Given the description of an element on the screen output the (x, y) to click on. 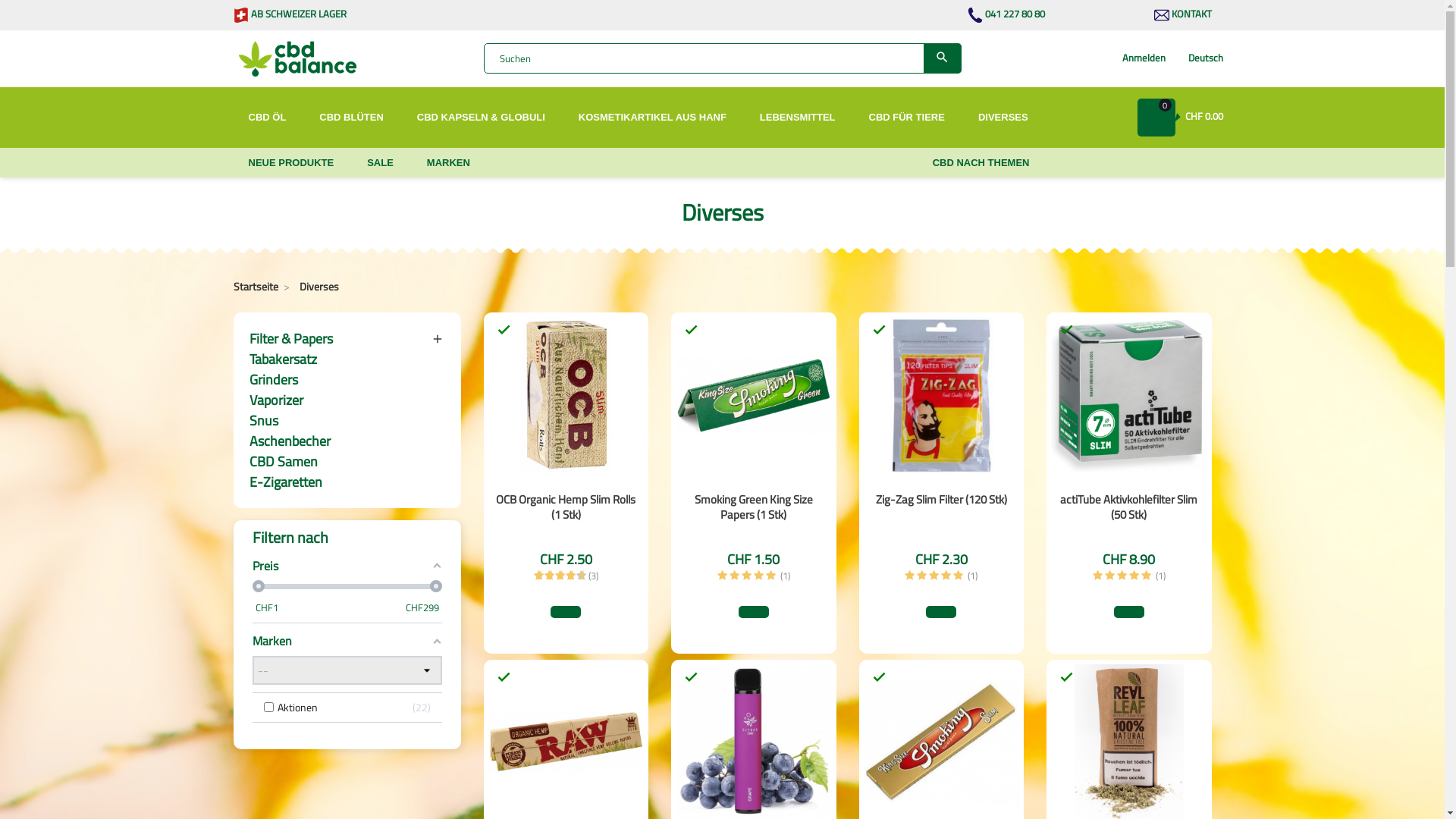
1 Element type: hover (1097, 575)
Grinders Element type: text (346, 379)
NEUE PRODUKTE Element type: text (291, 169)
5 Element type: hover (770, 575)
Filter & Papers Element type: text (346, 338)
Diverses Element type: text (318, 286)
8 Element type: hover (570, 575)
3 Element type: hover (543, 575)
CBD KAPSELN & GLOBULI Element type: text (480, 124)
1 Element type: hover (909, 575)
2 Element type: hover (1109, 575)
3 Element type: hover (746, 575)
MARKEN Element type: text (448, 169)
5 Element type: hover (958, 575)
2 Element type: hover (921, 575)
E-Zigaretten Element type: text (346, 481)
Zig-Zag Slim Filter (120 Stk) Element type: text (941, 499)
DIVERSES Element type: text (1003, 124)
5 Element type: hover (1146, 575)
Smoking Green King Size Papers (1 Stk) Element type: text (753, 506)
9 Element type: hover (575, 575)
CBD NACH THEMEN Element type: text (980, 169)
Snus Element type: text (346, 420)
3 Element type: hover (1121, 575)
4 Element type: hover (758, 575)
4 Element type: hover (945, 575)
SALE Element type: text (379, 169)
Startseite Element type: text (256, 286)
Vaporizer Element type: text (346, 399)
4 Element type: hover (1134, 575)
5 Element type: hover (554, 575)
KONTAKT Element type: text (1182, 13)
Anmelden Element type: text (1143, 57)
2 Element type: hover (538, 575)
7 Element type: hover (564, 575)
4 Element type: hover (549, 575)
041 227 80 80 Element type: text (1005, 13)
1 Element type: hover (722, 575)
actiTube Aktivkohlefilter Slim (50 Stk) Element type: text (1128, 506)
CBD Samen Element type: text (346, 461)
10 Element type: hover (580, 575)
OCB Organic Hemp Slim Rolls (1 Stk) Element type: text (565, 506)
KOSMETIKARTIKEL AUS HANF Element type: text (652, 124)
2 Element type: hover (734, 575)
3 Element type: hover (933, 575)
6 Element type: hover (559, 575)
1 Element type: hover (533, 575)
Tabakersatz Element type: text (346, 358)
LEBENSMITTEL Element type: text (797, 124)
Aschenbecher Element type: text (346, 440)
